Given the description of an element on the screen output the (x, y) to click on. 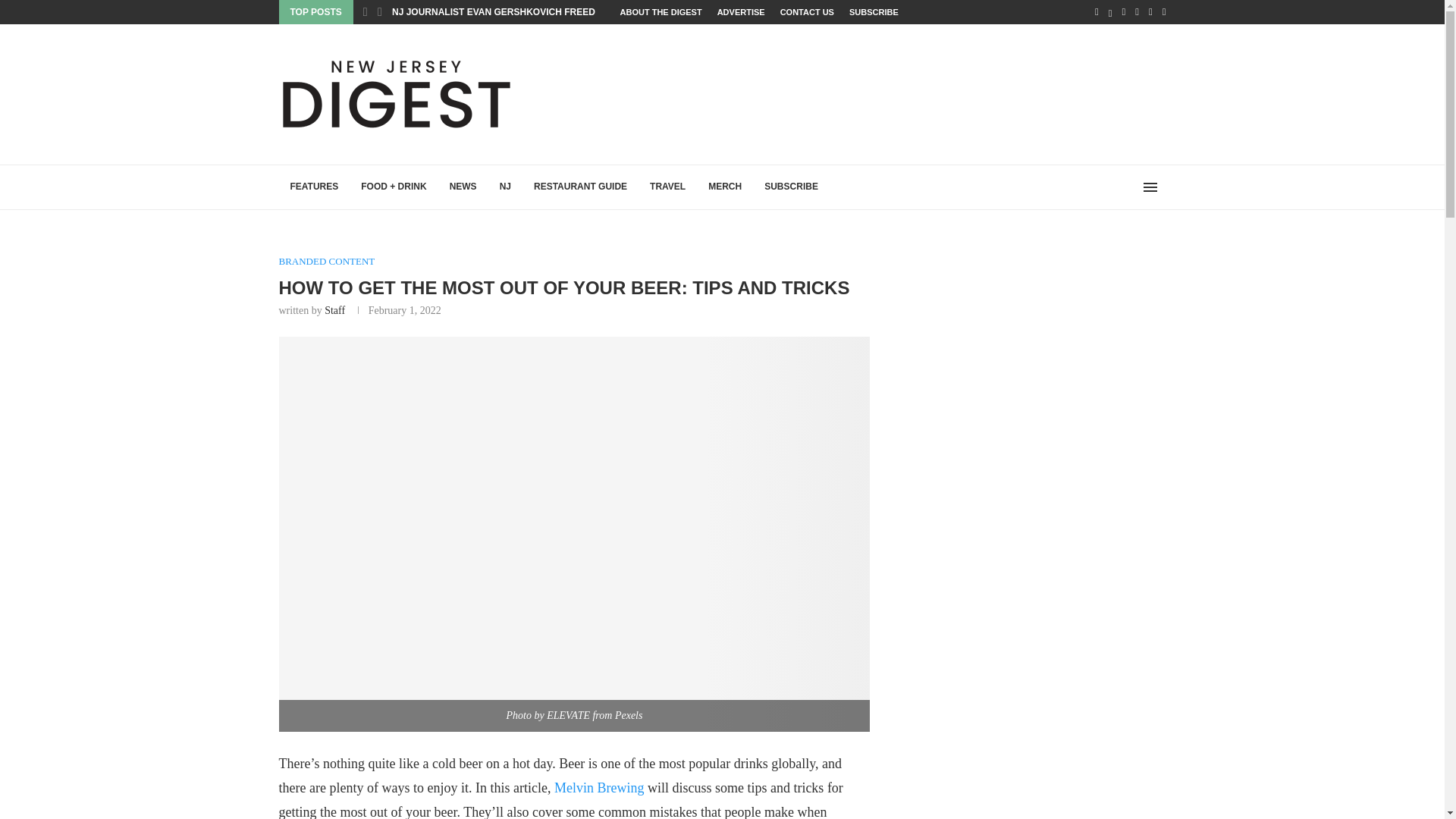
FEATURES (314, 186)
BRANDED CONTENT (327, 261)
NJ JOURNALIST EVAN GERSHKOVICH FREED AFTER DETENTION IN... (546, 11)
MERCH (724, 186)
ADVERTISE (741, 12)
SUBSCRIBE (790, 186)
Staff (334, 310)
TRAVEL (668, 186)
ABOUT THE DIGEST (660, 12)
